Given the description of an element on the screen output the (x, y) to click on. 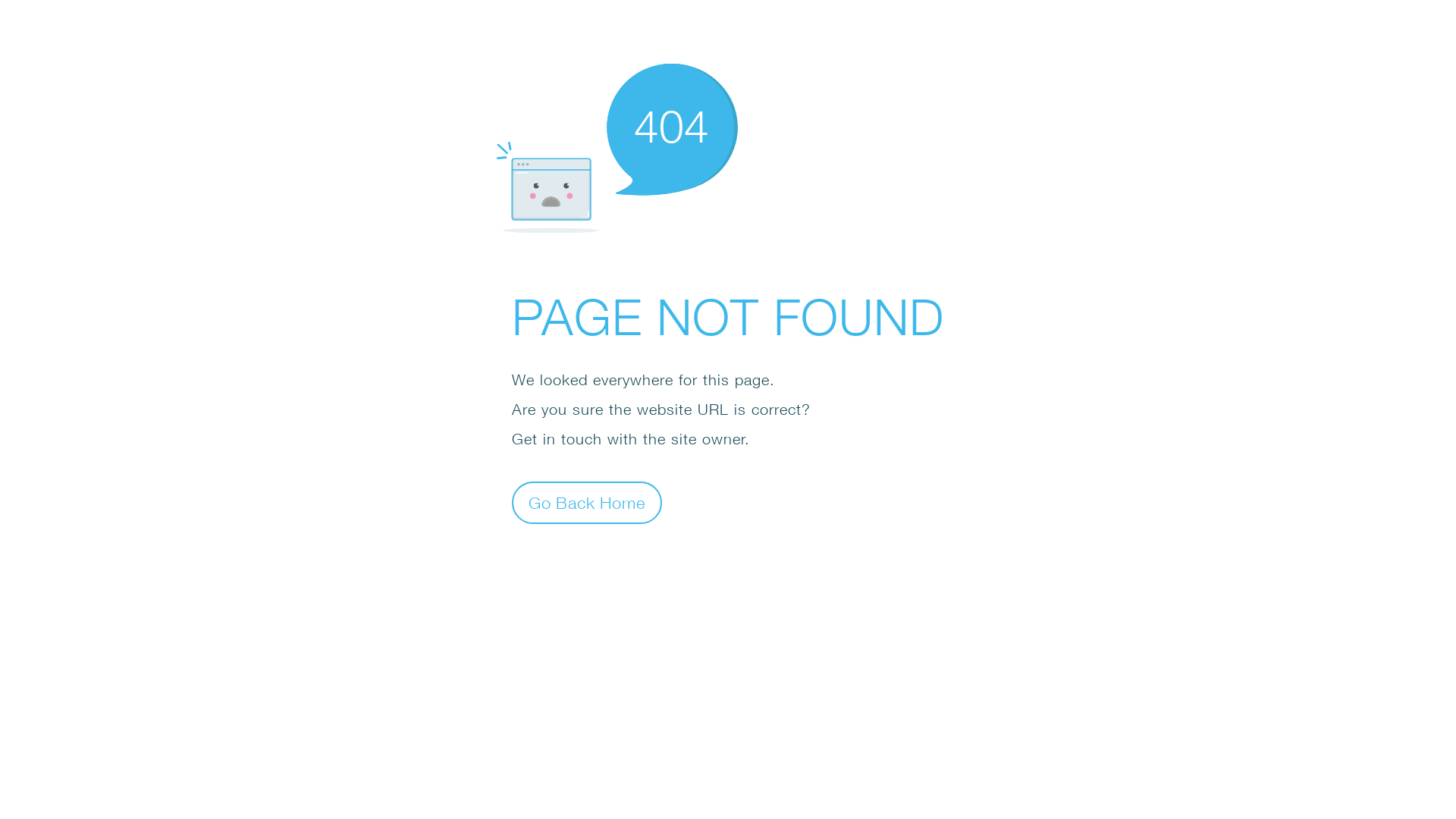
Go Back Home Element type: text (586, 502)
